Given the description of an element on the screen output the (x, y) to click on. 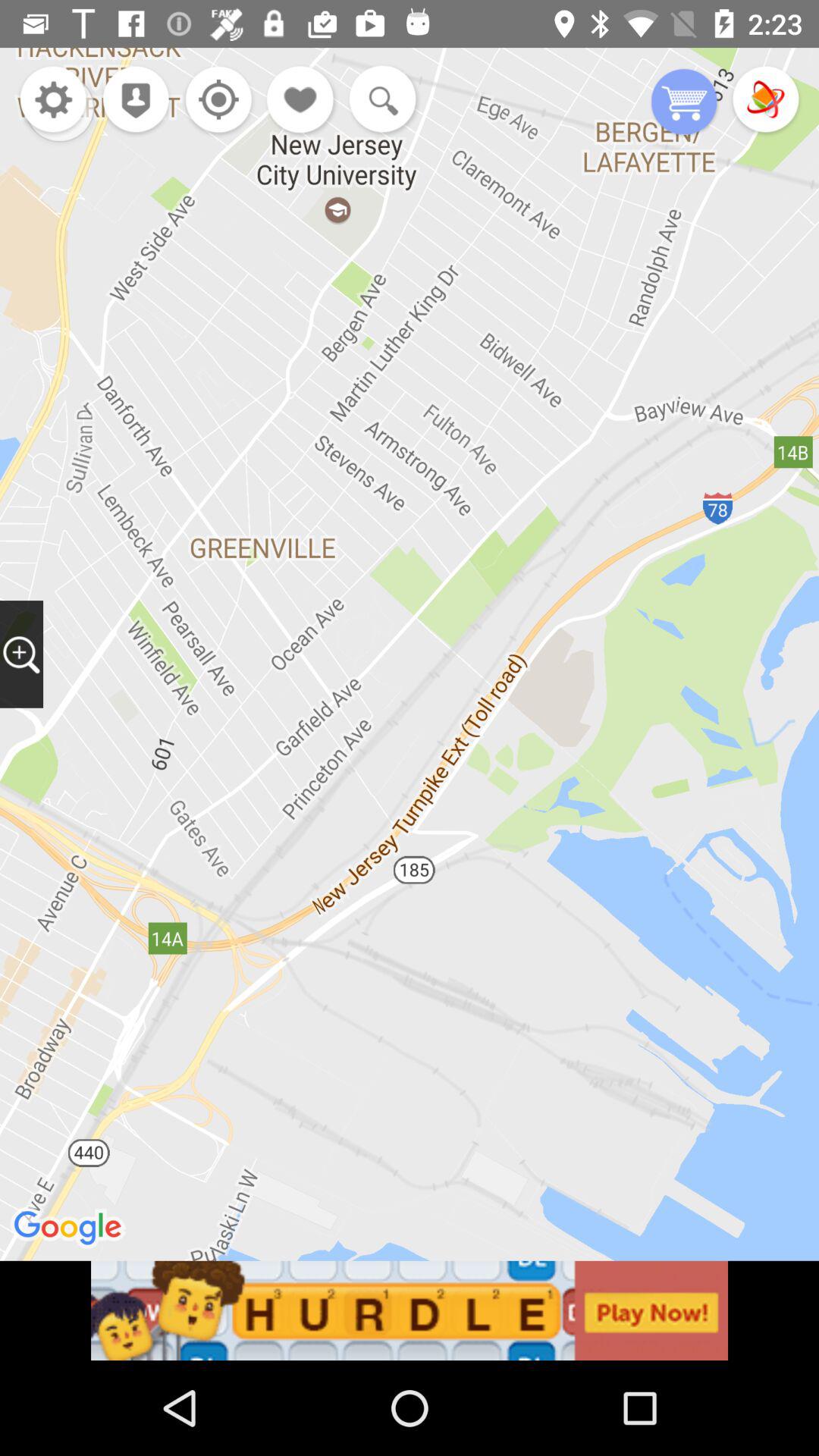
open cart (684, 102)
